Given the description of an element on the screen output the (x, y) to click on. 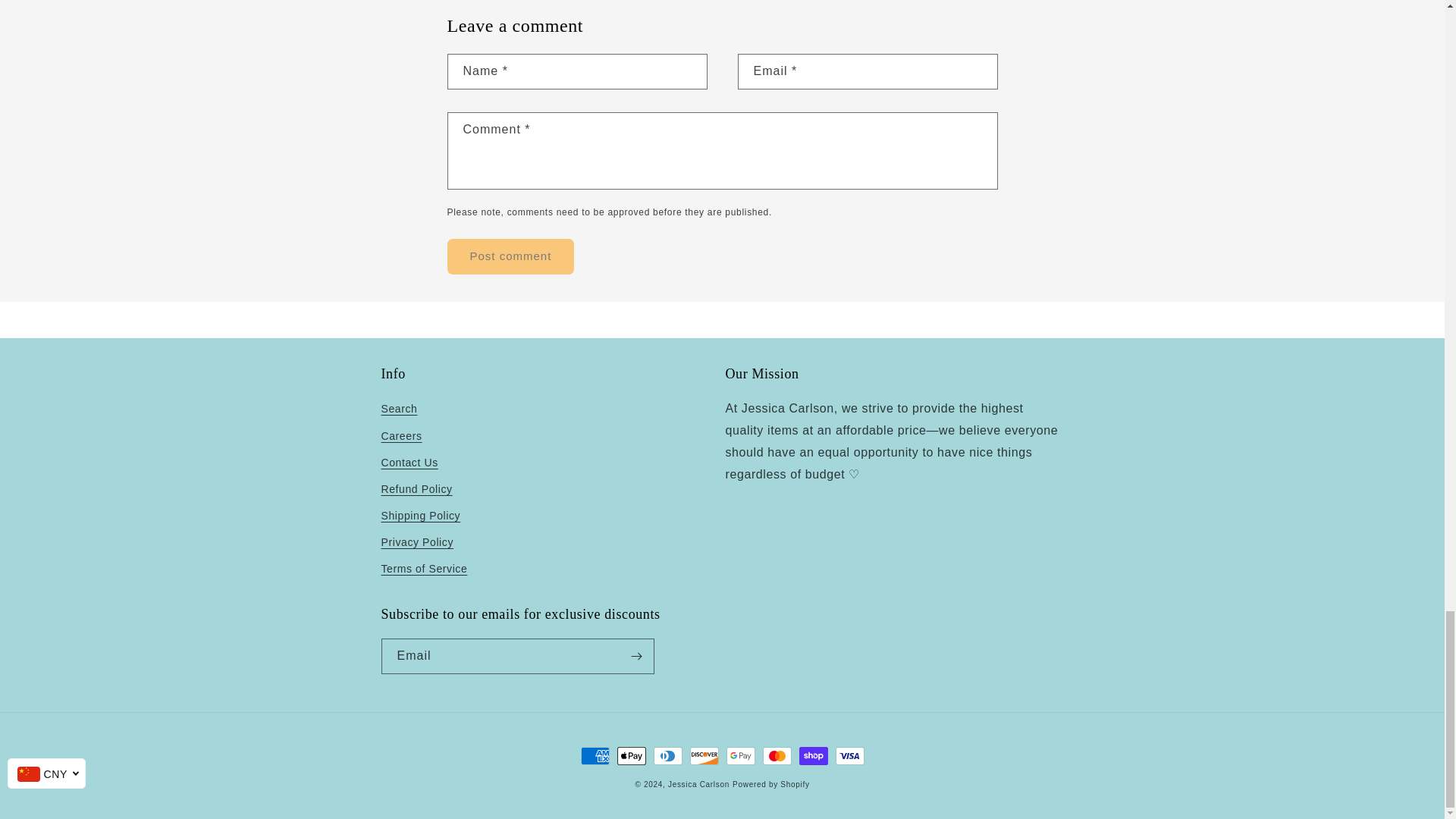
Post comment (510, 256)
